Given the description of an element on the screen output the (x, y) to click on. 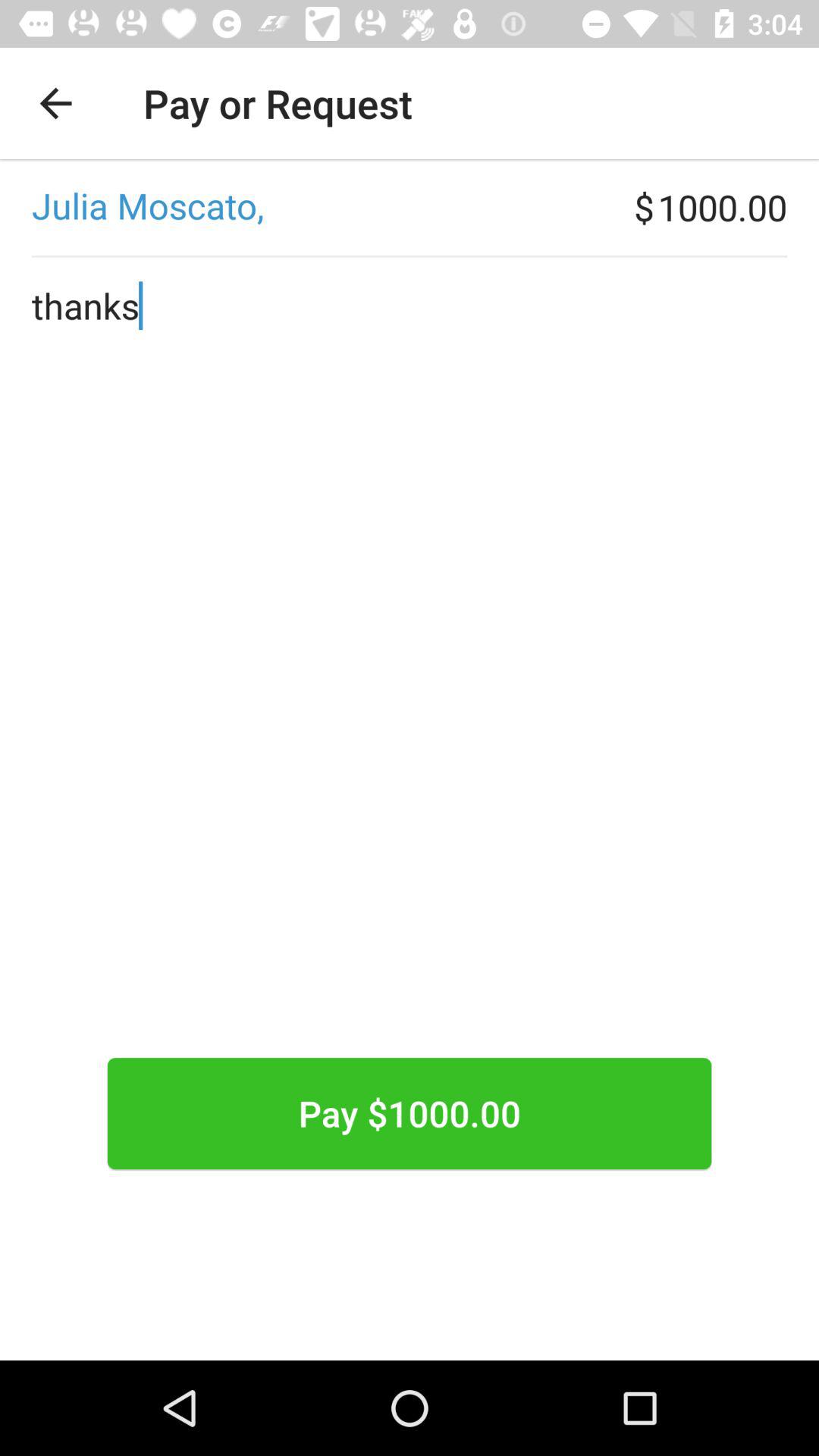
turn on thanks icon (409, 705)
